Given the description of an element on the screen output the (x, y) to click on. 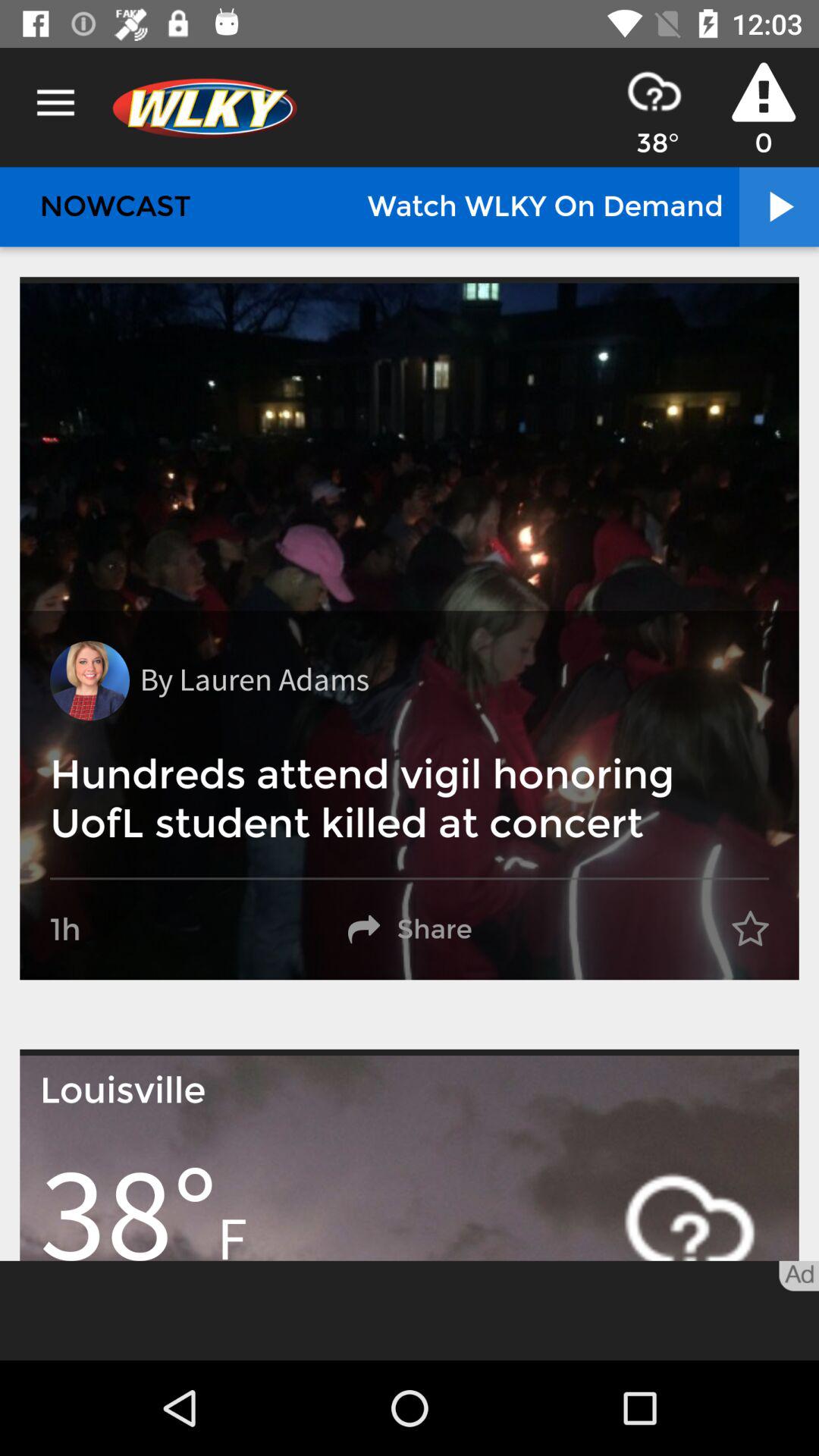
open icon above nowcast item (55, 103)
